Given the description of an element on the screen output the (x, y) to click on. 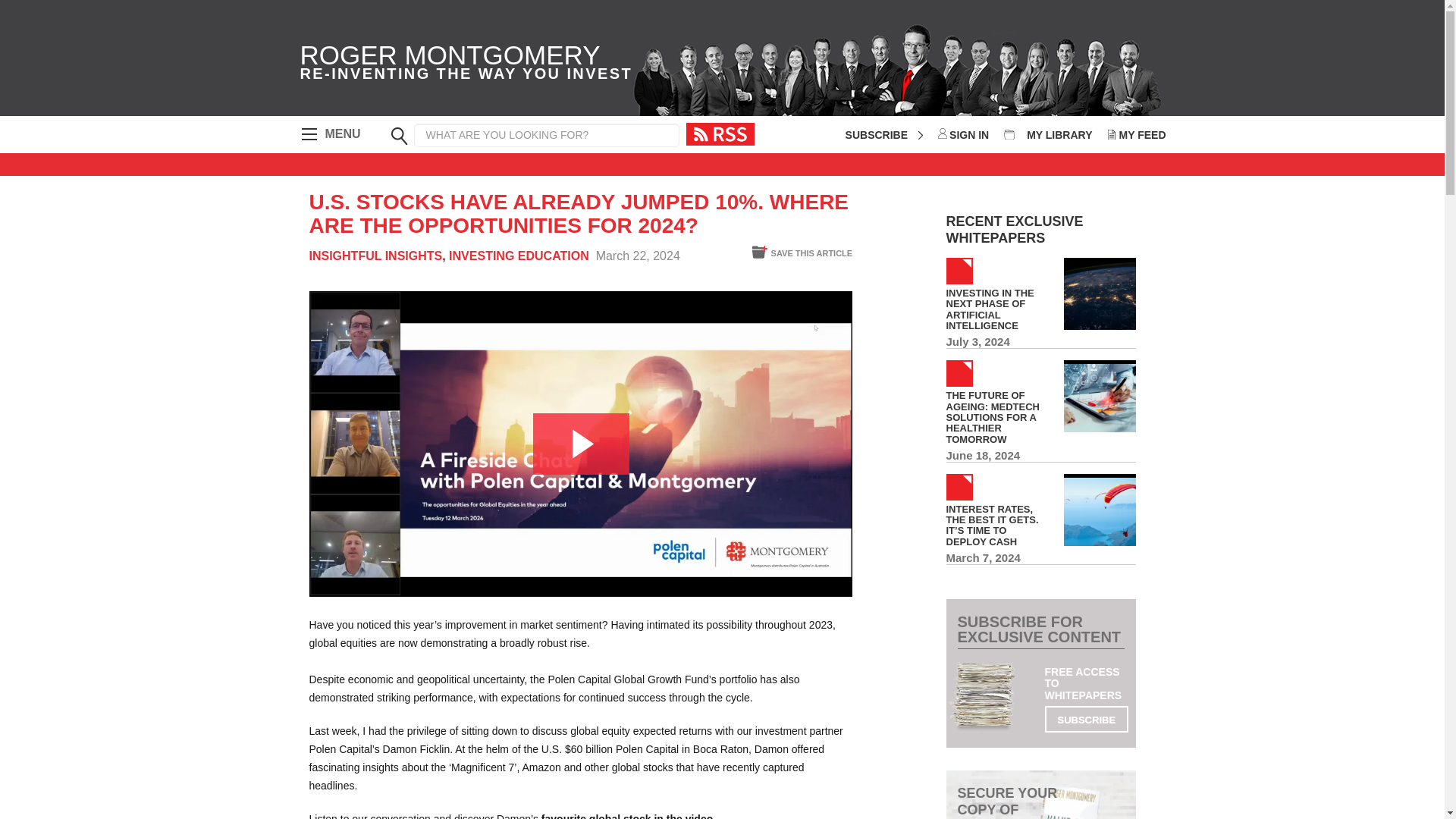
MENU (466, 64)
2:03 pm (327, 134)
ROGER MONTGOMERY (637, 255)
